Given the description of an element on the screen output the (x, y) to click on. 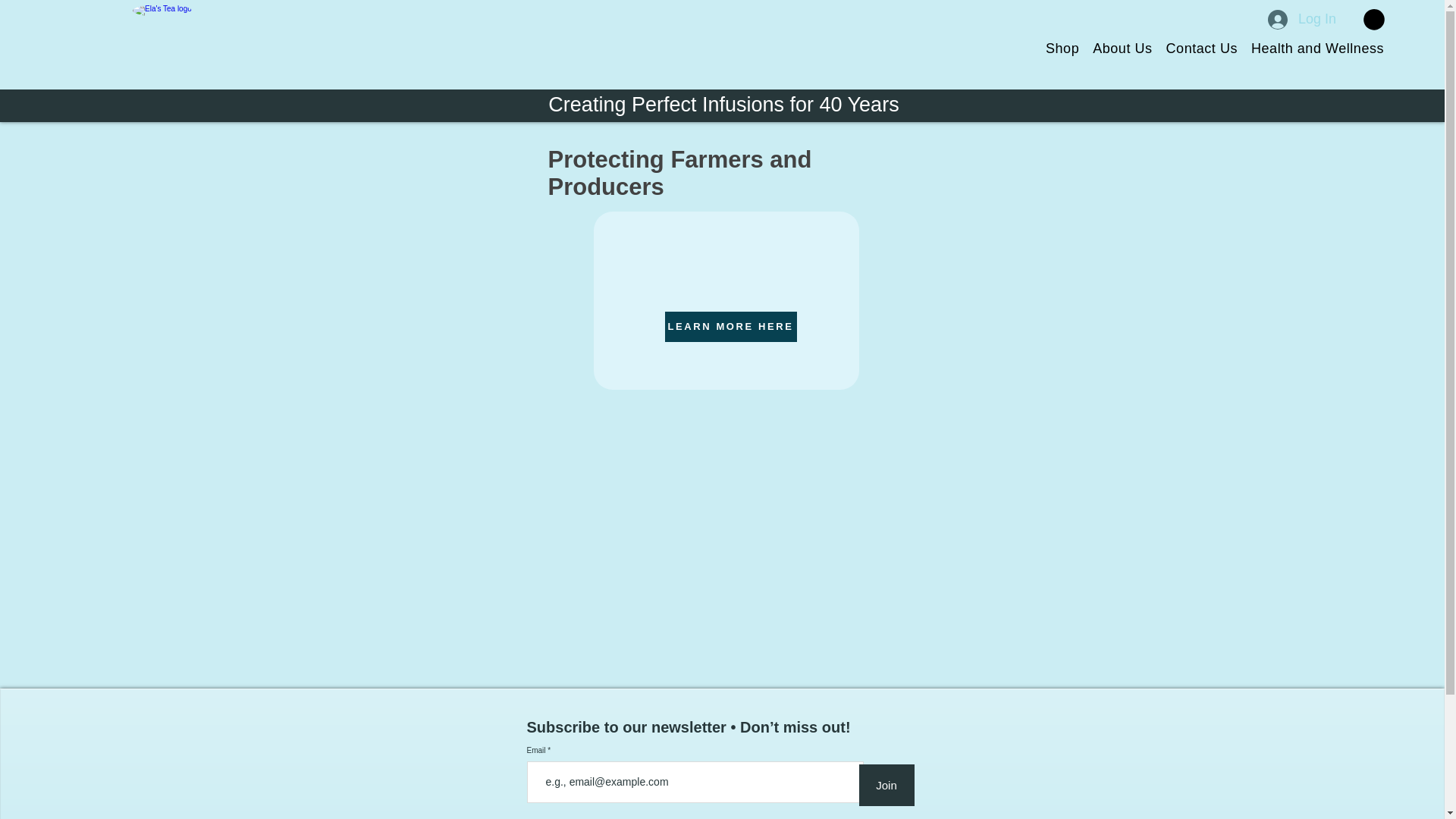
Join (886, 784)
About Us (1116, 48)
Log In (1301, 19)
Shop (1056, 48)
LEARN MORE HERE (729, 327)
Contact Us (1196, 48)
Health and Wellness (1311, 48)
